Given the description of an element on the screen output the (x, y) to click on. 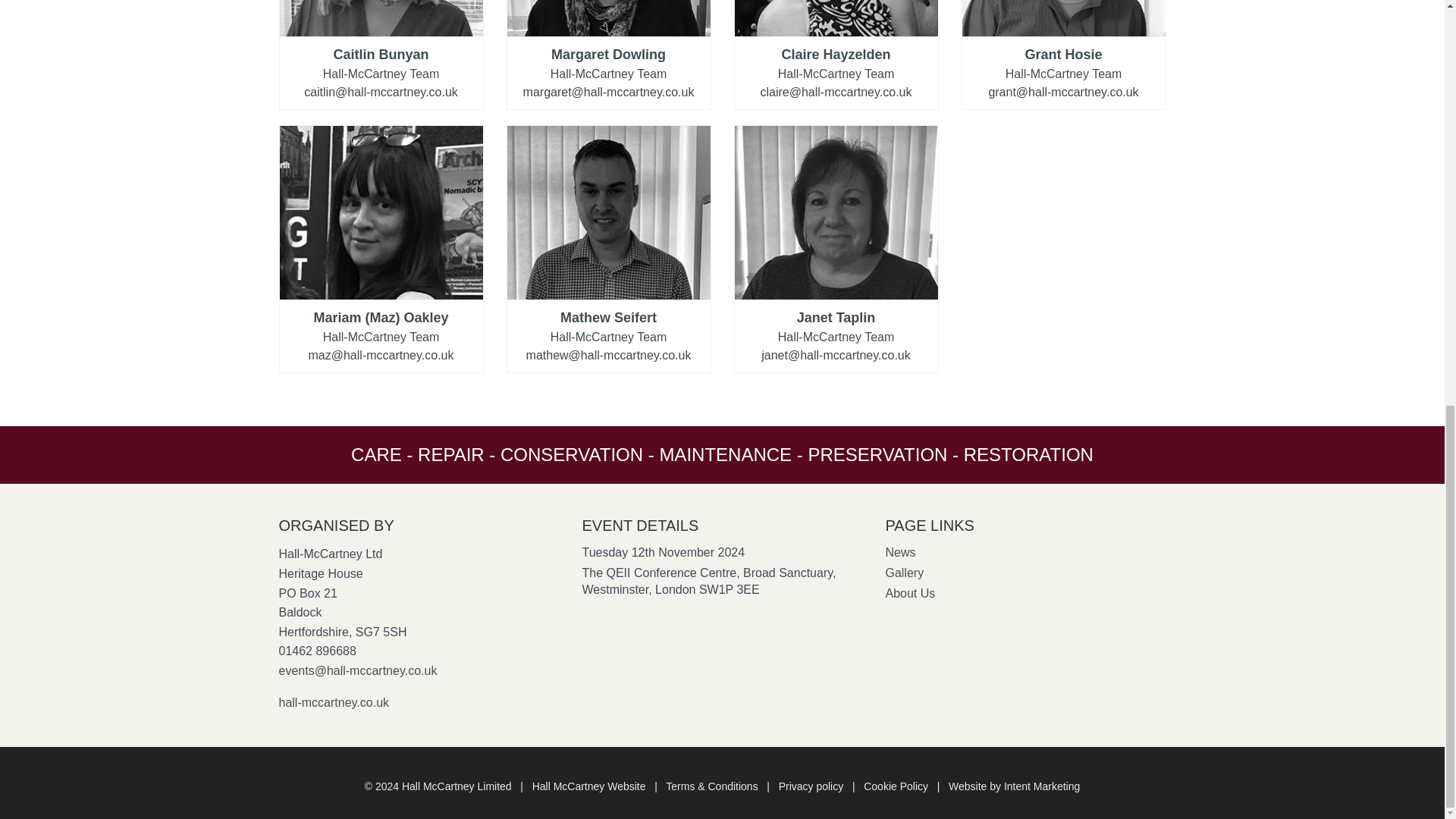
hall-mccartney.co.uk (334, 701)
News (900, 552)
About Us (909, 593)
Gallery (904, 572)
